Given the description of an element on the screen output the (x, y) to click on. 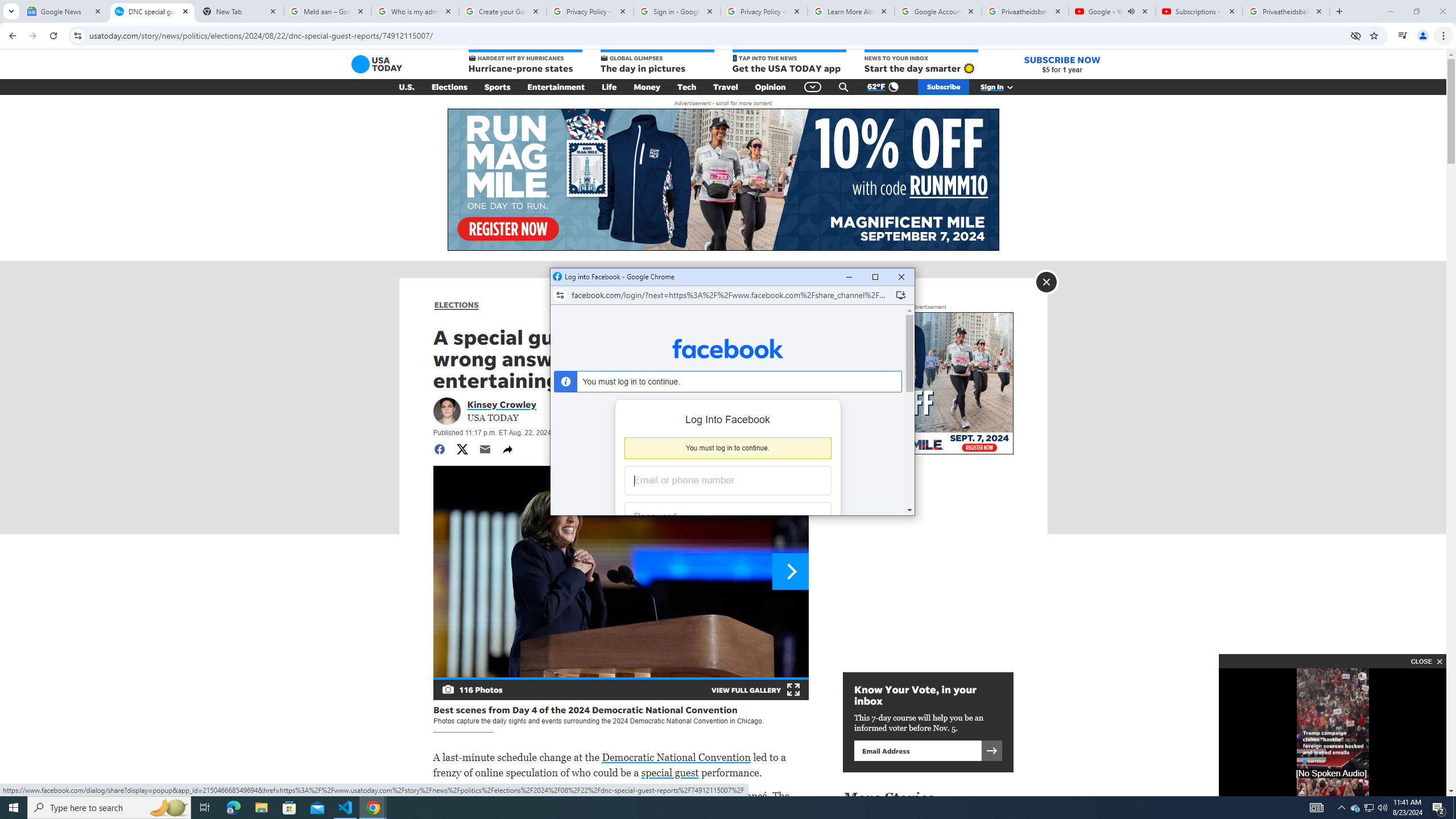
Task View (204, 807)
AutomationID: aw0 (722, 180)
USA TODAY (376, 64)
Share natively (506, 449)
Money (646, 87)
SUBSCRIBE NOW $5 for 1 year (1062, 64)
Search highlights icon opens search home window (167, 807)
Google - YouTube - Audio playing (1111, 11)
